Given the description of an element on the screen output the (x, y) to click on. 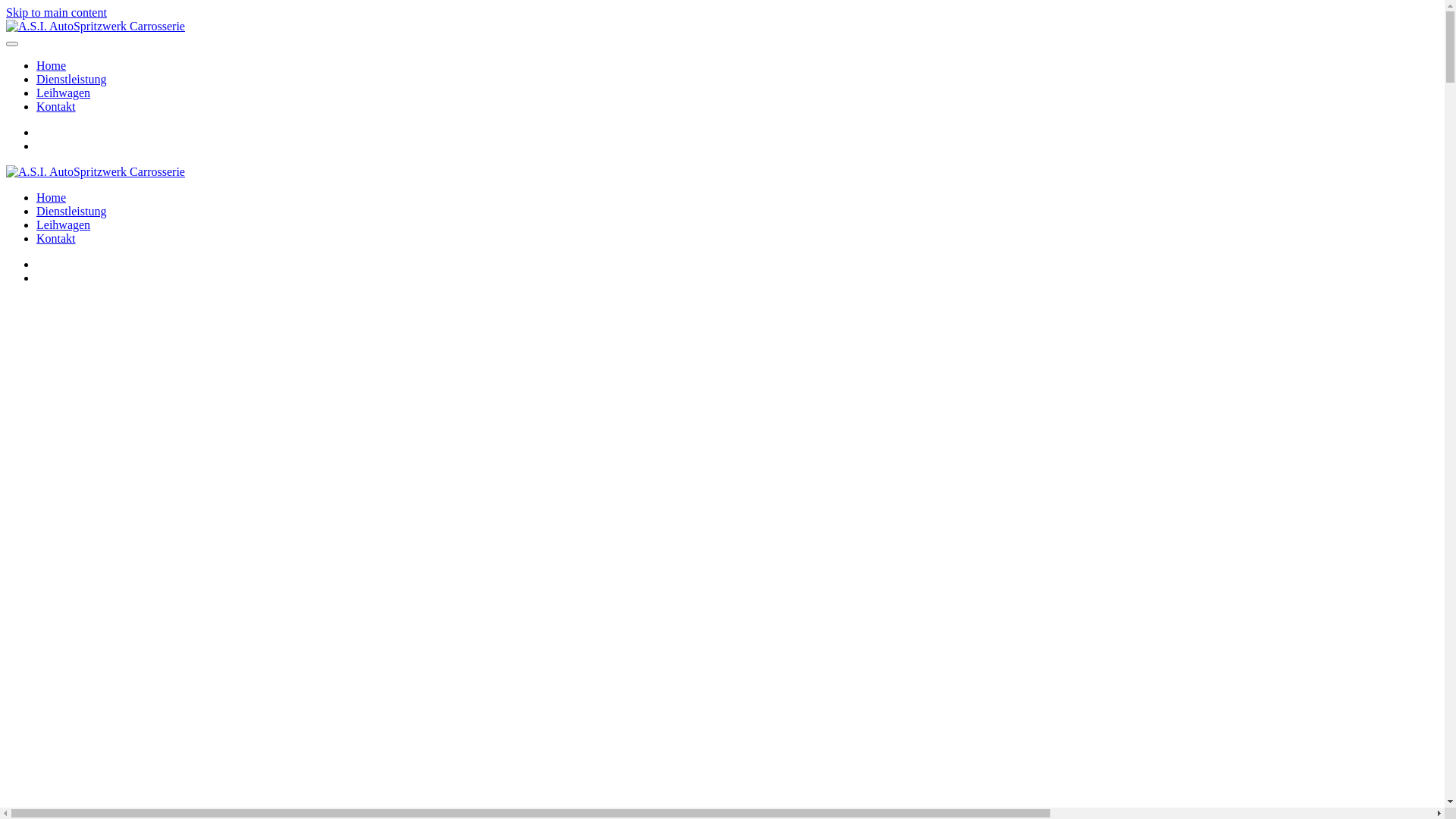
Dienstleistung Element type: text (71, 210)
Home Element type: text (50, 65)
Kontakt Element type: text (55, 106)
Kontakt Element type: text (55, 238)
Leihwagen Element type: text (63, 92)
Dienstleistung Element type: text (71, 78)
Skip to main content Element type: text (56, 12)
Leihwagen Element type: text (63, 224)
Home Element type: text (50, 197)
